Given the description of an element on the screen output the (x, y) to click on. 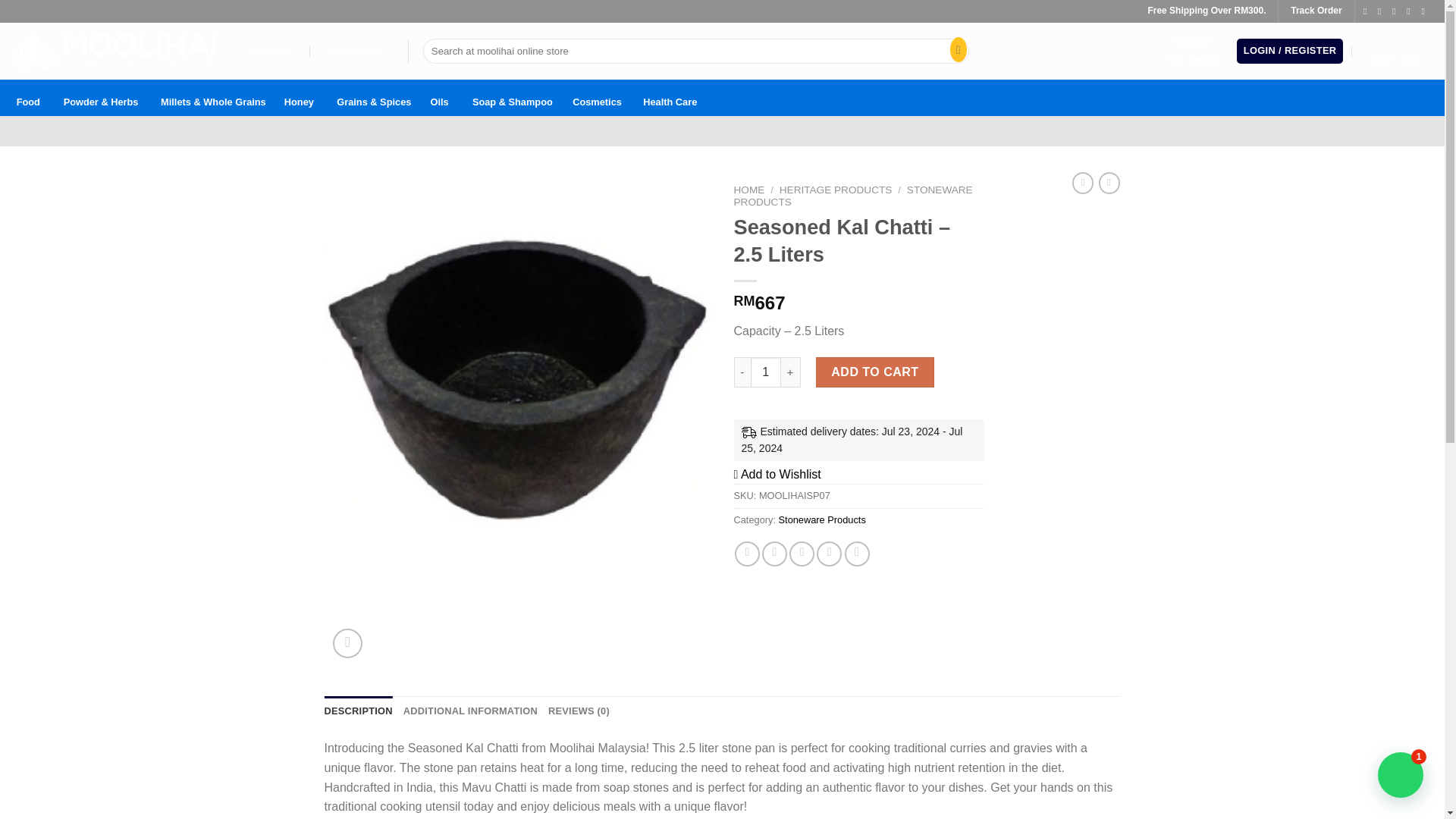
STONEWARE PRODUCTS (852, 196)
HERITAGE PRODUCTS (835, 189)
Cosmetics (596, 97)
Search (955, 51)
Health Care (670, 97)
Cart (1396, 51)
Share on Twitter (774, 553)
HOME (749, 189)
1 (765, 372)
Pin on Pinterest (828, 553)
Food (28, 97)
Track Order (1315, 9)
Share on Facebook (747, 553)
Zoom (1192, 50)
